Given the description of an element on the screen output the (x, y) to click on. 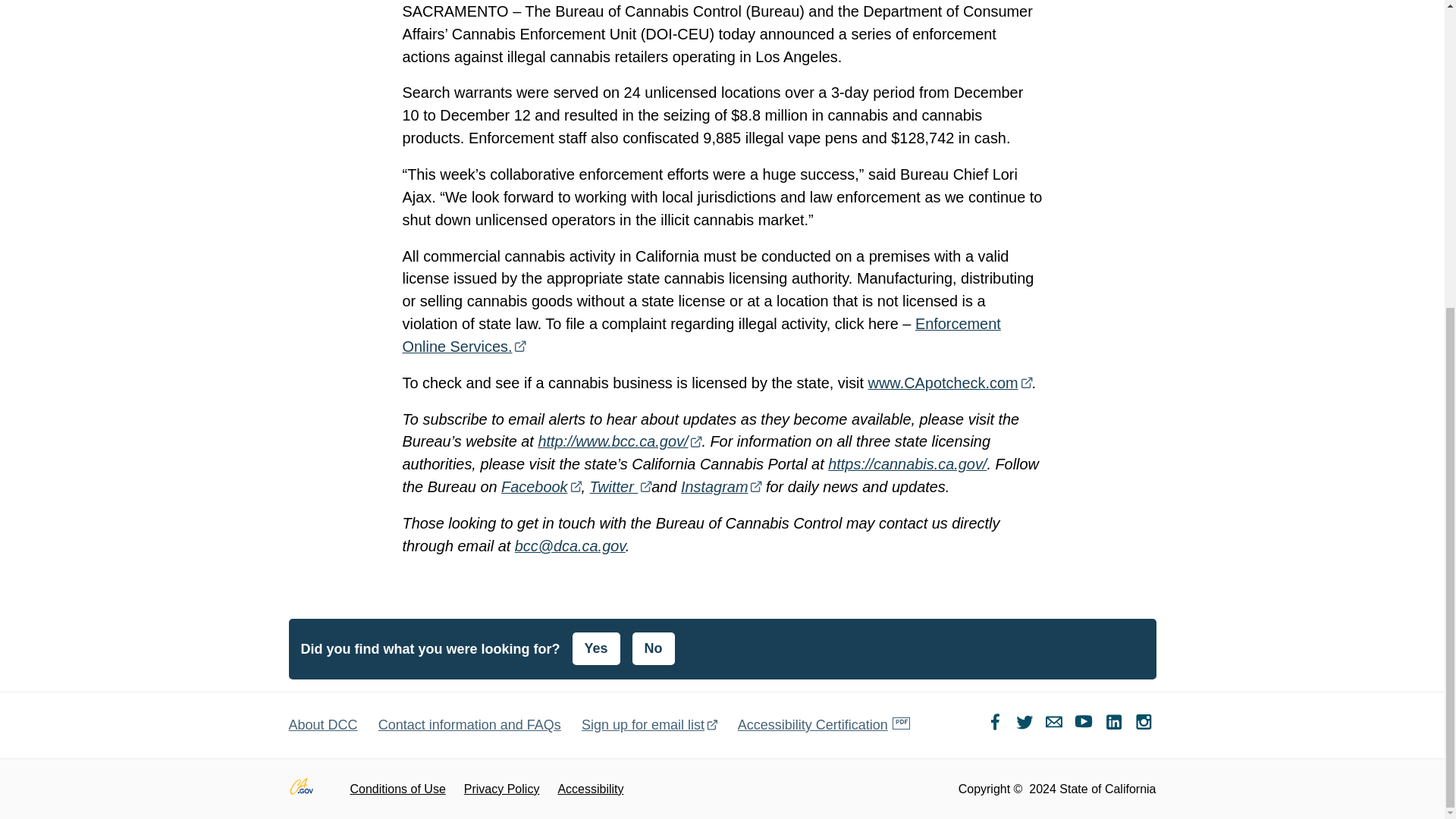
Share via Twitter (1026, 725)
Share via Instagram (1143, 725)
Share via Facebook (996, 725)
Share via YouTube (1085, 725)
Share via LinkedIn (1115, 725)
ca.gov (309, 788)
Share via Email (1056, 725)
